Given the description of an element on the screen output the (x, y) to click on. 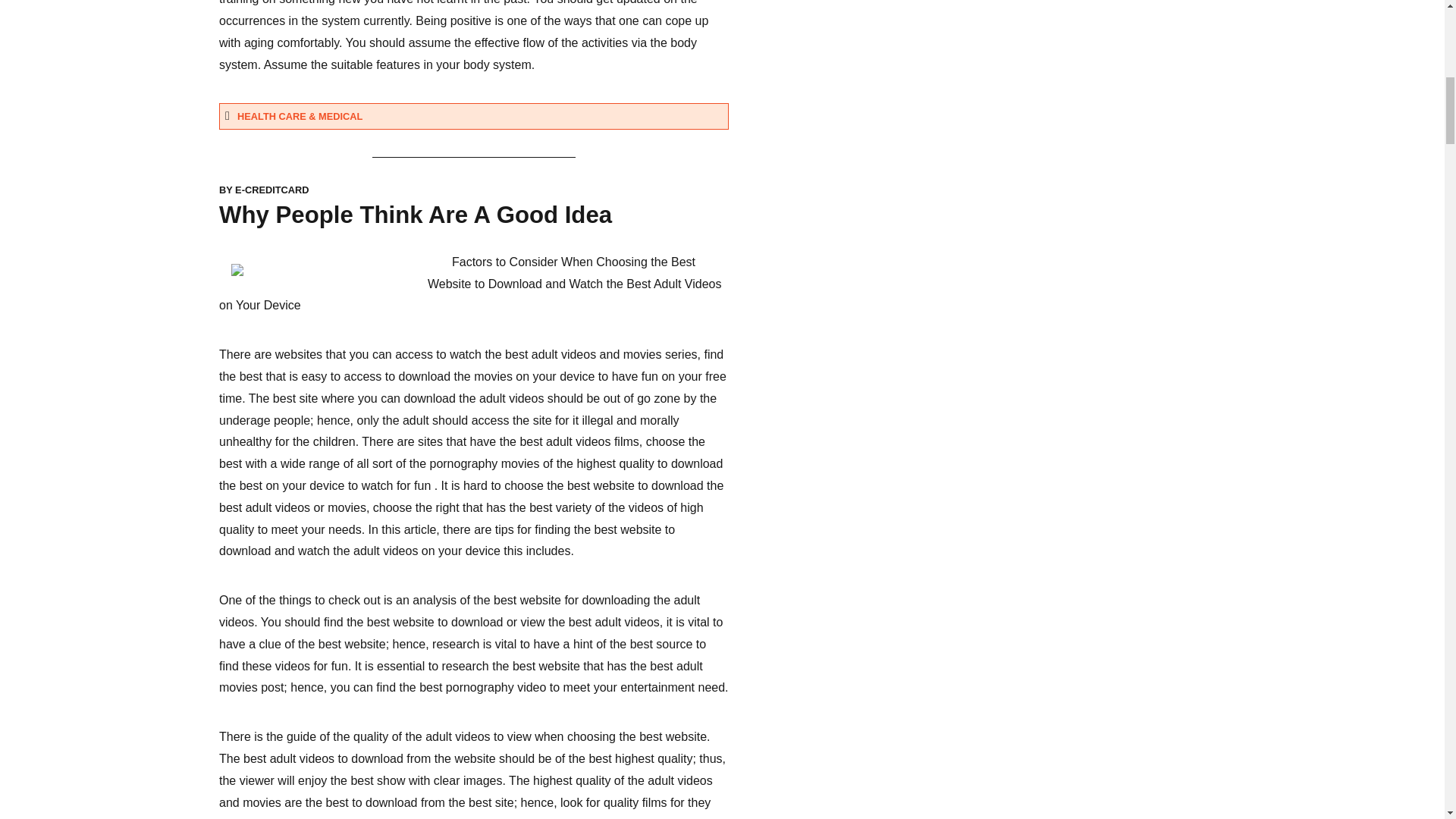
Why People Think Are A Good Idea (415, 214)
